Given the description of an element on the screen output the (x, y) to click on. 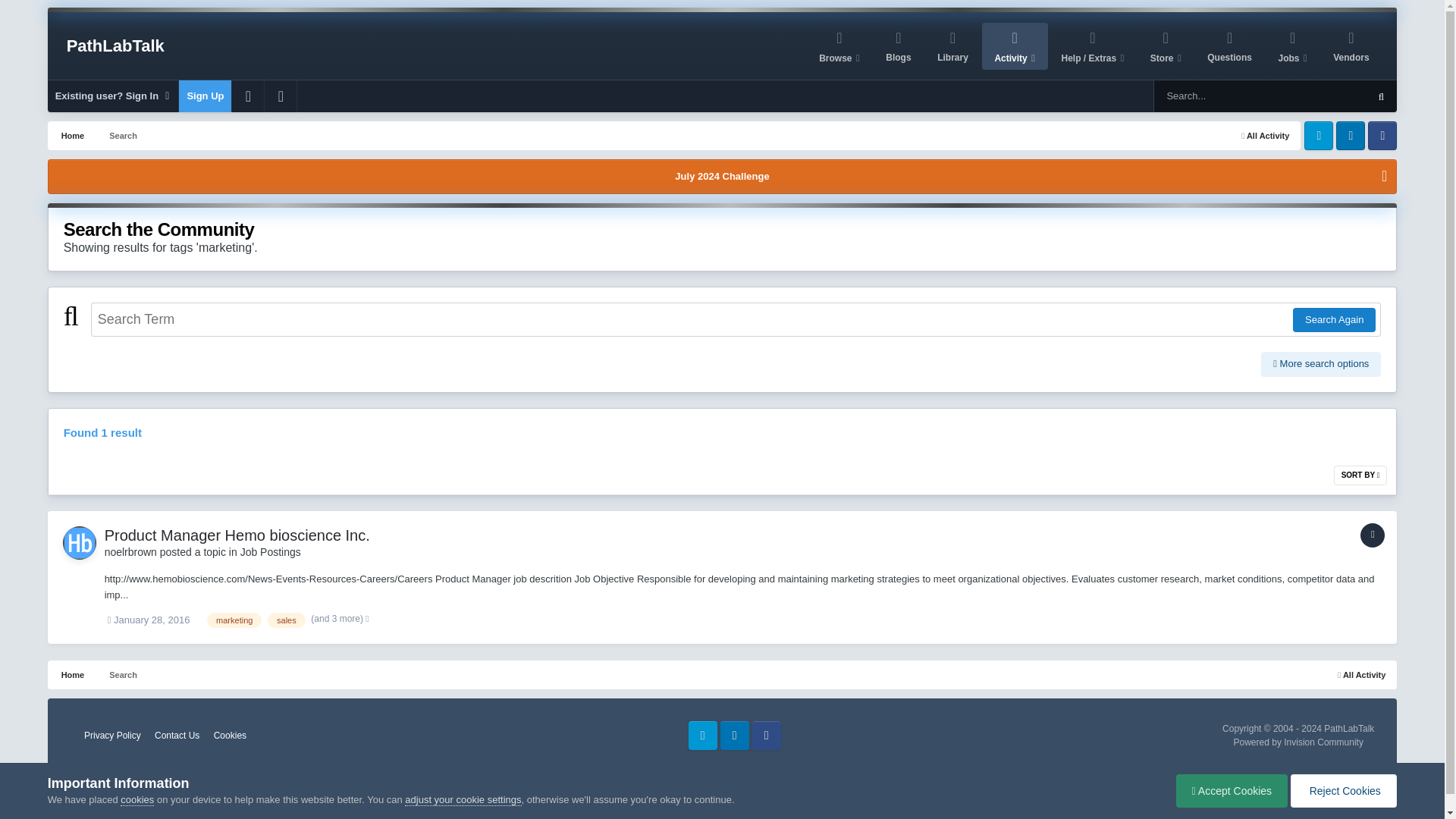
Activity (1014, 45)
Find other content tagged with 'marketing' (234, 620)
Library (951, 45)
Find other content tagged with 'sales' (286, 620)
Go to noelrbrown's profile (130, 551)
Home (72, 674)
PathLabTalk (115, 46)
Dark Mode (280, 96)
Go to noelrbrown's profile (79, 542)
Browse (839, 45)
Blogs (897, 45)
Invision Community (1297, 742)
Home (72, 135)
Customizer (247, 96)
Topic (1371, 535)
